Given the description of an element on the screen output the (x, y) to click on. 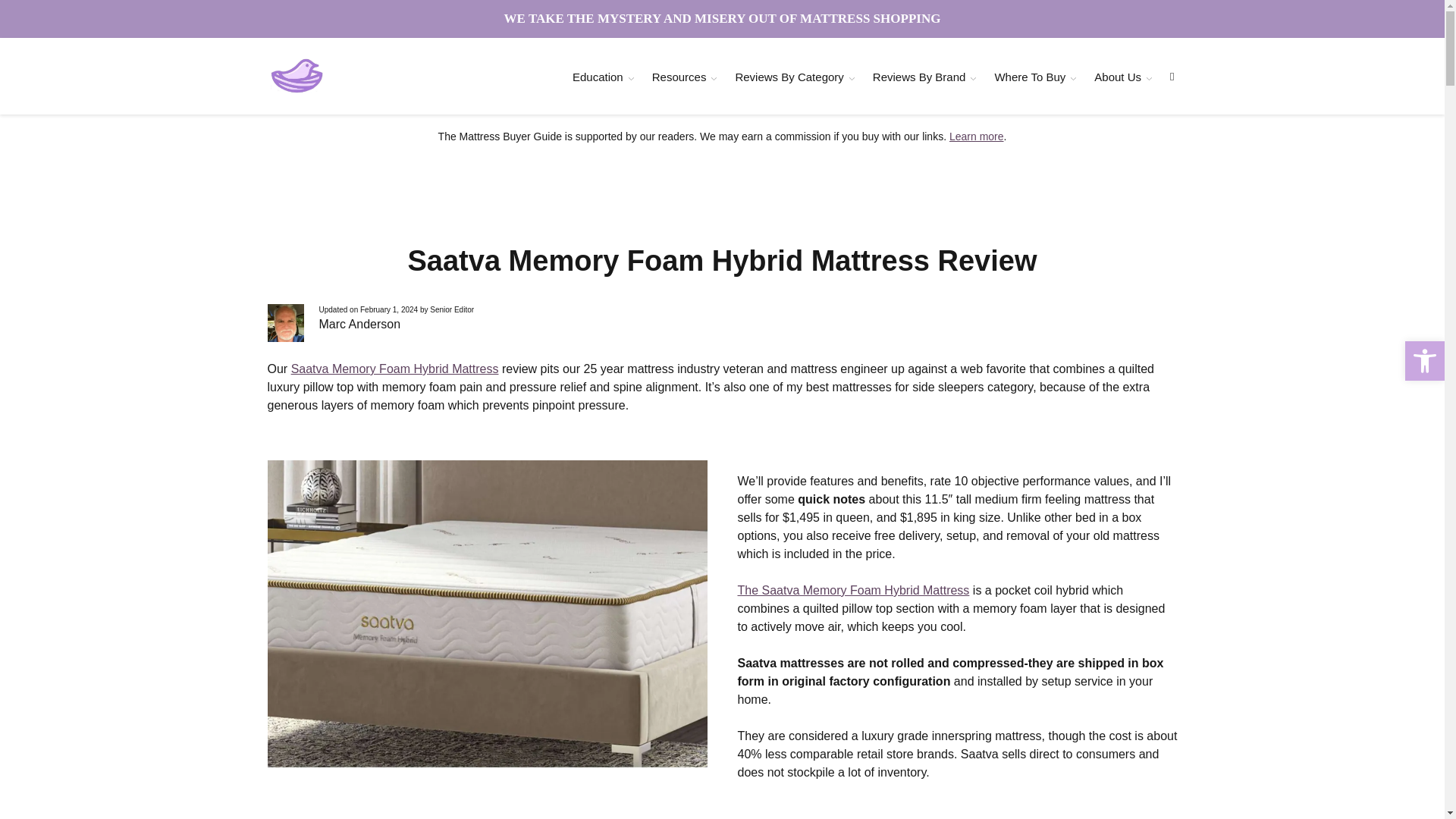
Reviews By Category (788, 76)
Education (597, 76)
Accessibility Tools (1424, 360)
Resources (678, 76)
